Given the description of an element on the screen output the (x, y) to click on. 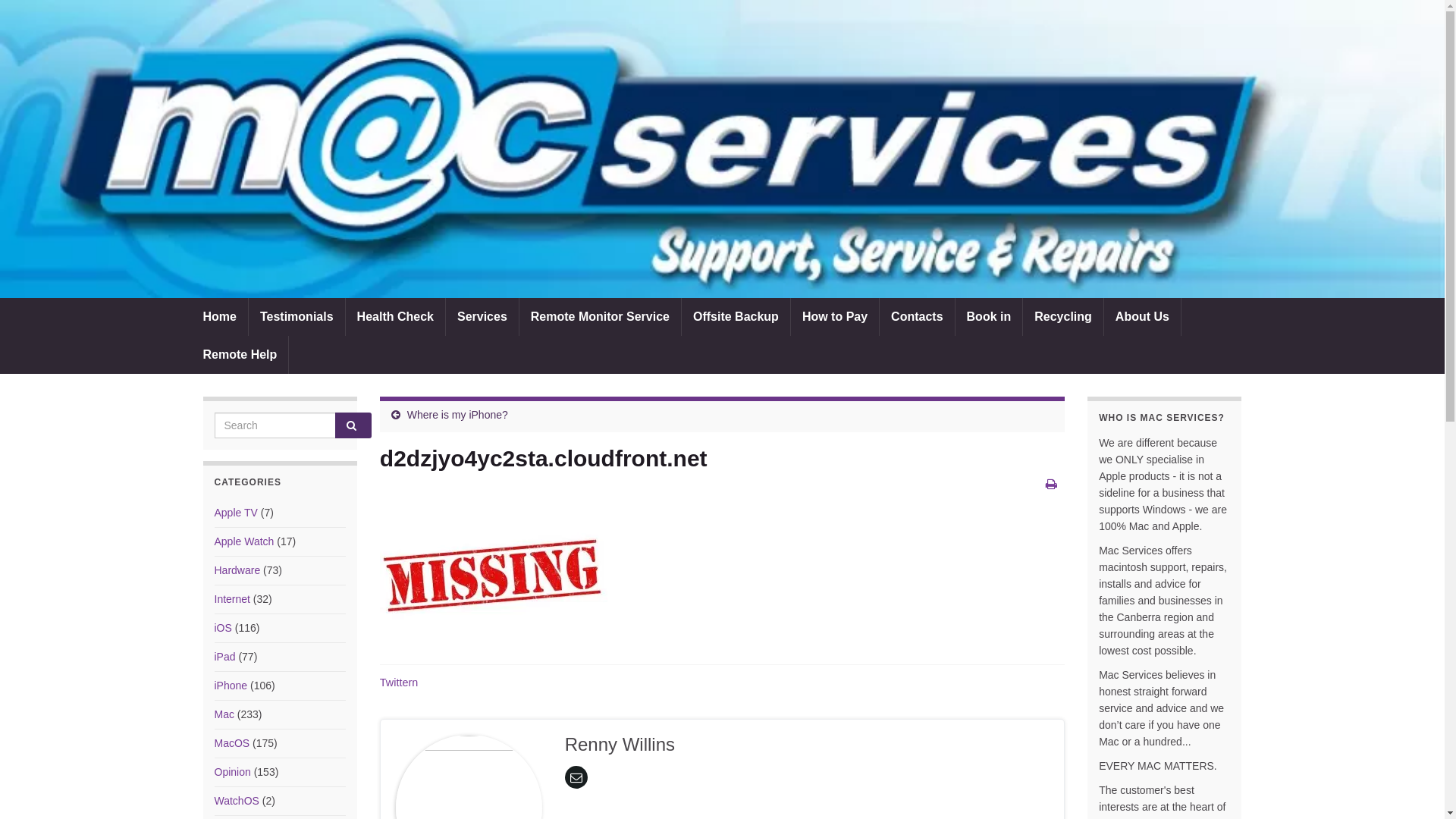
Where is my iPhone? Element type: text (457, 414)
  Element type: text (722, 149)
Remote Monitor Service Element type: text (599, 316)
iPad Element type: text (224, 656)
MacOS Element type: text (231, 743)
Apple TV Element type: text (235, 512)
Mac Element type: text (223, 714)
Remote Help Element type: text (239, 354)
WatchOS Element type: text (235, 800)
How to Pay Element type: text (834, 316)
Opinion Element type: text (231, 771)
Print this media Element type: hover (1051, 483)
Home Element type: text (219, 316)
Mac Services ACT Element type: hover (722, 149)
Hardware Element type: text (236, 570)
Twittern Element type: text (398, 682)
Contacts Element type: text (916, 316)
Testimonials Element type: text (296, 316)
Services Element type: text (481, 316)
Apple Watch Element type: text (243, 541)
Recycling Element type: text (1062, 316)
iPhone Element type: text (230, 685)
iOS Element type: text (222, 627)
Internet Element type: text (231, 599)
Book in Element type: text (988, 316)
Health Check Element type: text (395, 316)
About Us Element type: text (1142, 316)
Offsite Backup Element type: text (735, 316)
